Given the description of an element on the screen output the (x, y) to click on. 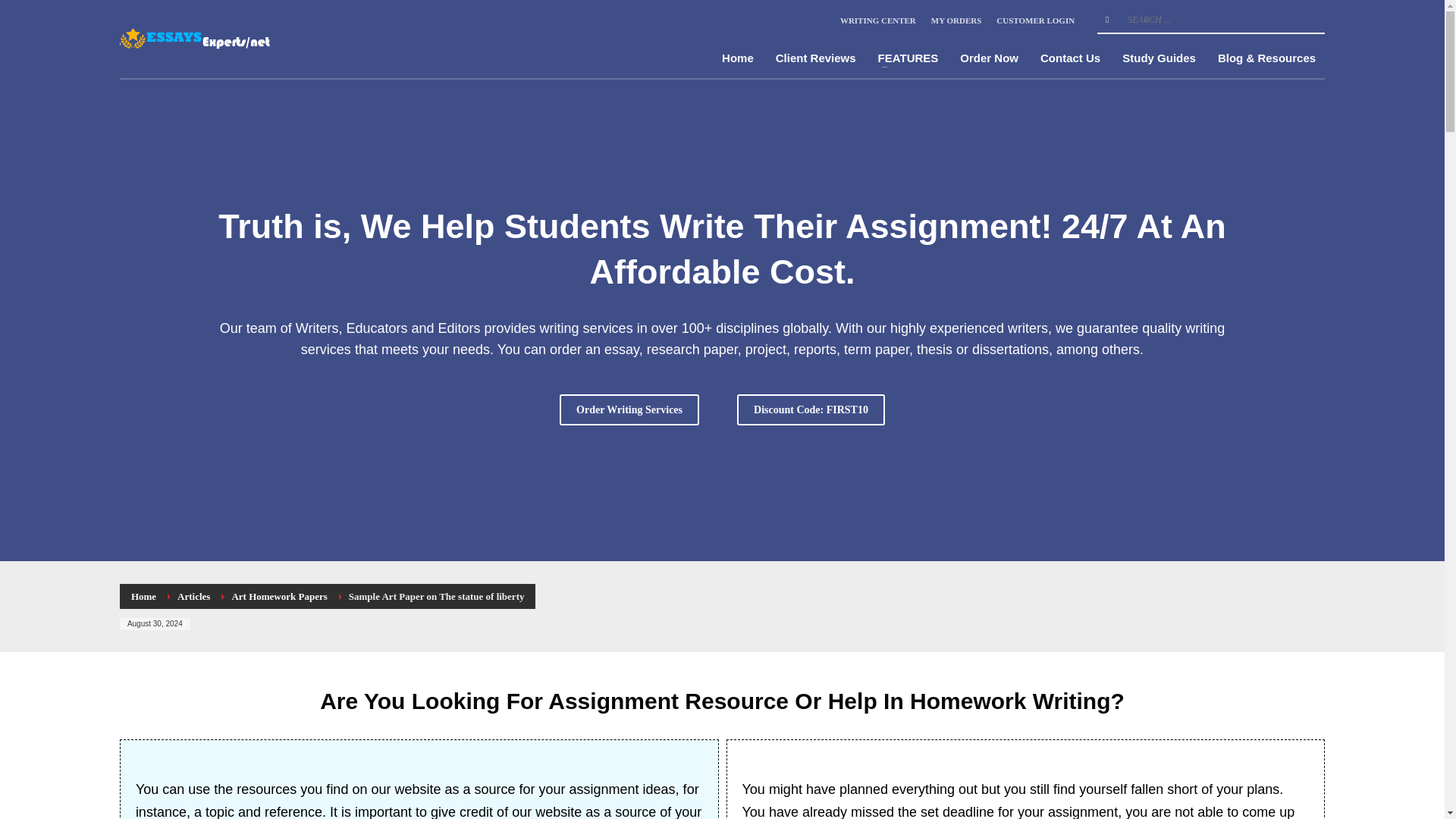
Articles (193, 595)
Articles (193, 595)
Home (737, 57)
Study Guides (1159, 57)
Homework Help (200, 38)
Home (143, 595)
WRITING CENTER (877, 20)
CUSTOMER LOGIN (1034, 20)
Client Reviews (815, 57)
MY ORDERS (956, 20)
